Given the description of an element on the screen output the (x, y) to click on. 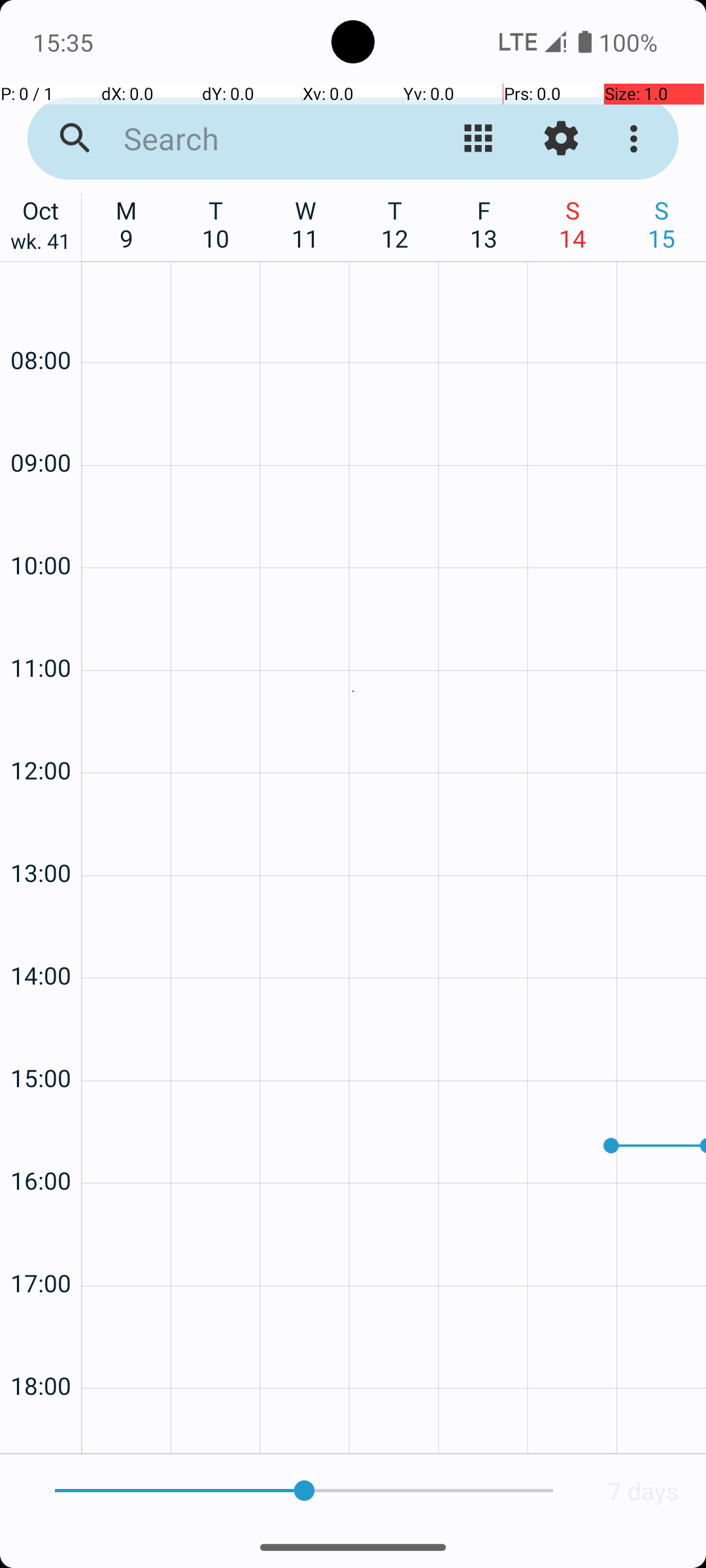
wk. 41 Element type: android.widget.TextView (40, 243)
7 days Element type: android.widget.TextView (642, 1490)
10:00 Element type: android.widget.TextView (40, 529)
12:00 Element type: android.widget.TextView (40, 735)
14:00 Element type: android.widget.TextView (40, 940)
15:00 Element type: android.widget.TextView (40, 1042)
18:00 Element type: android.widget.TextView (40, 1350)
19:00 Element type: android.widget.TextView (40, 1428)
M
9 Element type: android.widget.TextView (126, 223)
T
10 Element type: android.widget.TextView (215, 223)
W
11 Element type: android.widget.TextView (305, 223)
T
12 Element type: android.widget.TextView (394, 223)
F
13 Element type: android.widget.TextView (483, 223)
S
14 Element type: android.widget.TextView (572, 223)
S
15 Element type: android.widget.TextView (661, 223)
